Given the description of an element on the screen output the (x, y) to click on. 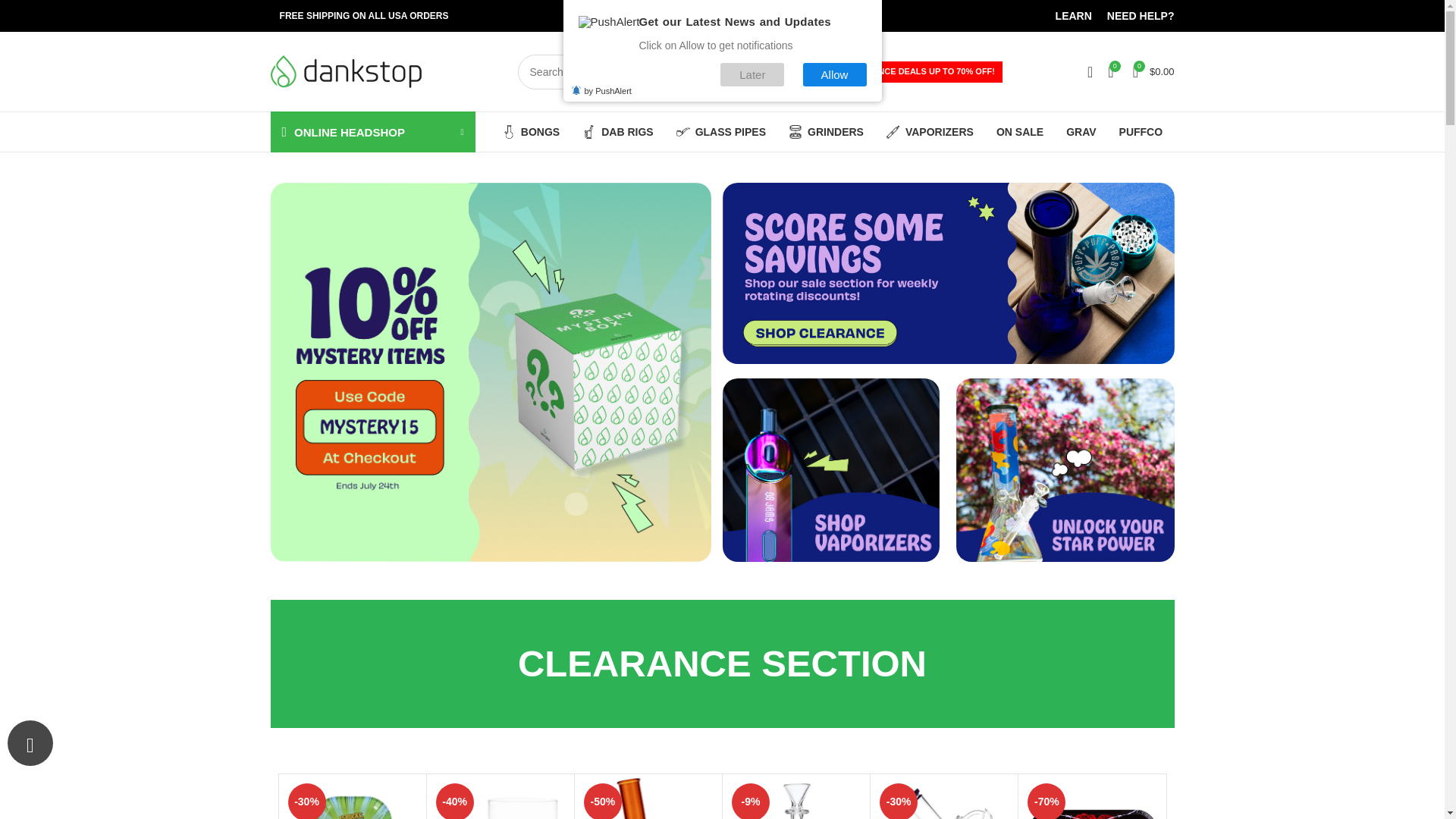
Shopping cart (1153, 71)
SEARCH (803, 71)
LEARN (1073, 15)
Search for products (669, 71)
NEED HELP? (1140, 15)
